Given the description of an element on the screen output the (x, y) to click on. 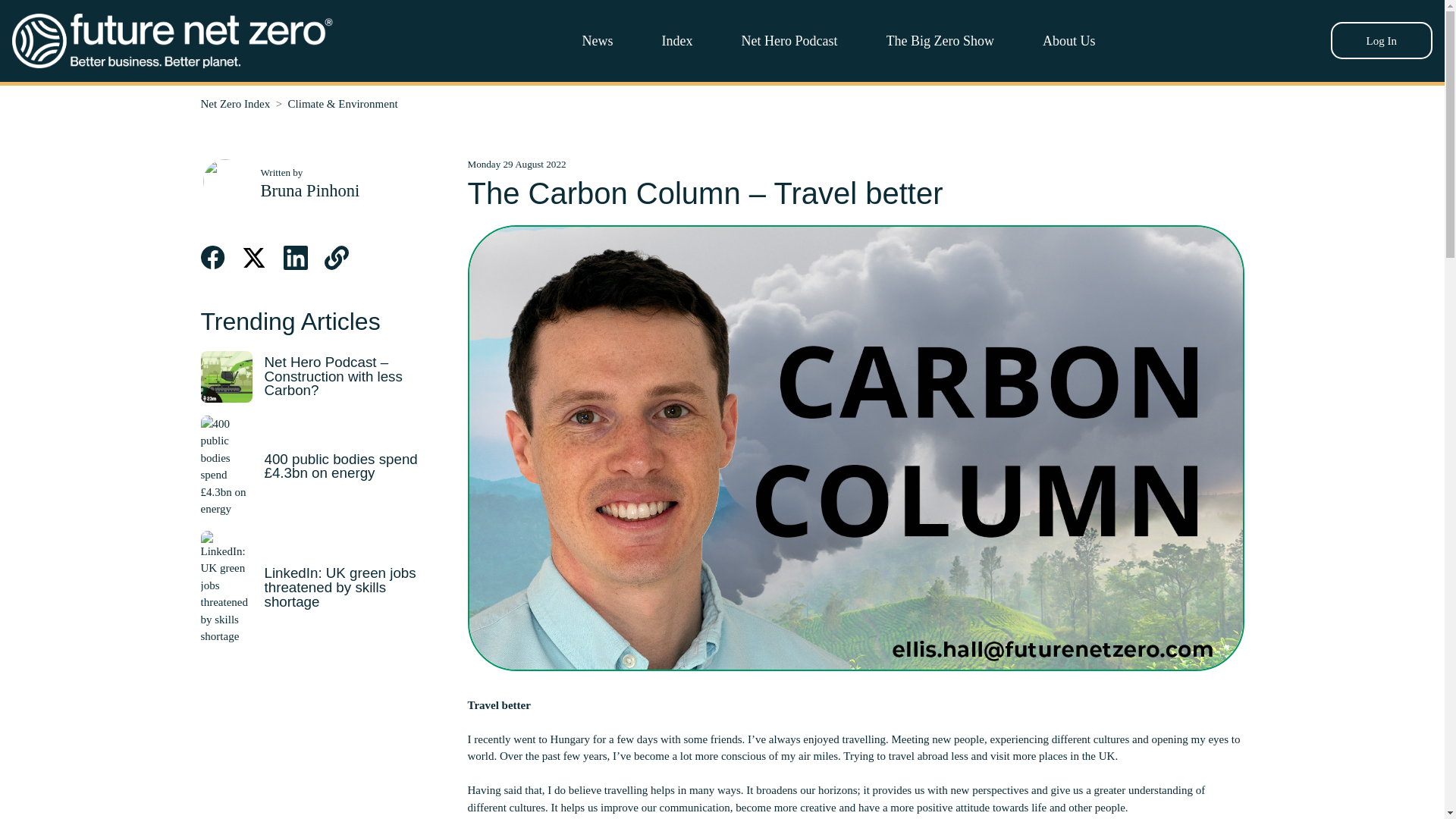
Share on LinkedIn (295, 257)
Net Zero Index (234, 102)
Share on Facebook (212, 257)
Share on Twitter (253, 257)
Log In (1381, 40)
